Given the description of an element on the screen output the (x, y) to click on. 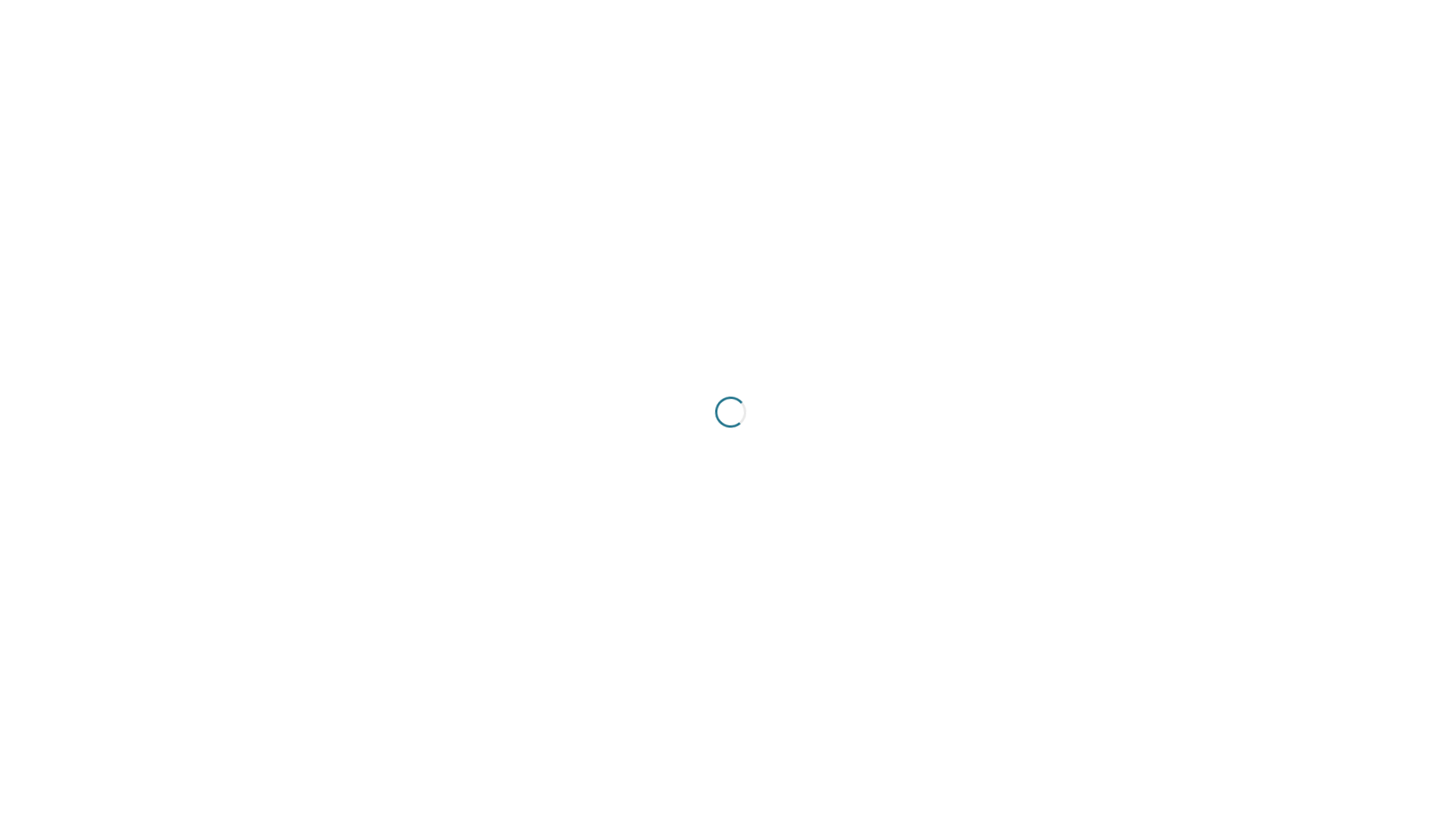
Follow us on Twitter Element type: hover (1011, 371)
CONTACT Element type: text (1115, 58)
Like us on Facebook Element type: hover (1053, 371)
Visit us on LinkedIn Element type: hover (1138, 371)
BLOG Element type: text (1038, 58)
WORK Element type: text (883, 58)
ABOUT Element type: text (810, 58)
HOME Element type: text (737, 58)
SERVICES Element type: text (961, 58)
Follow us on Google Plus Element type: hover (1096, 371)
